Given the description of an element on the screen output the (x, y) to click on. 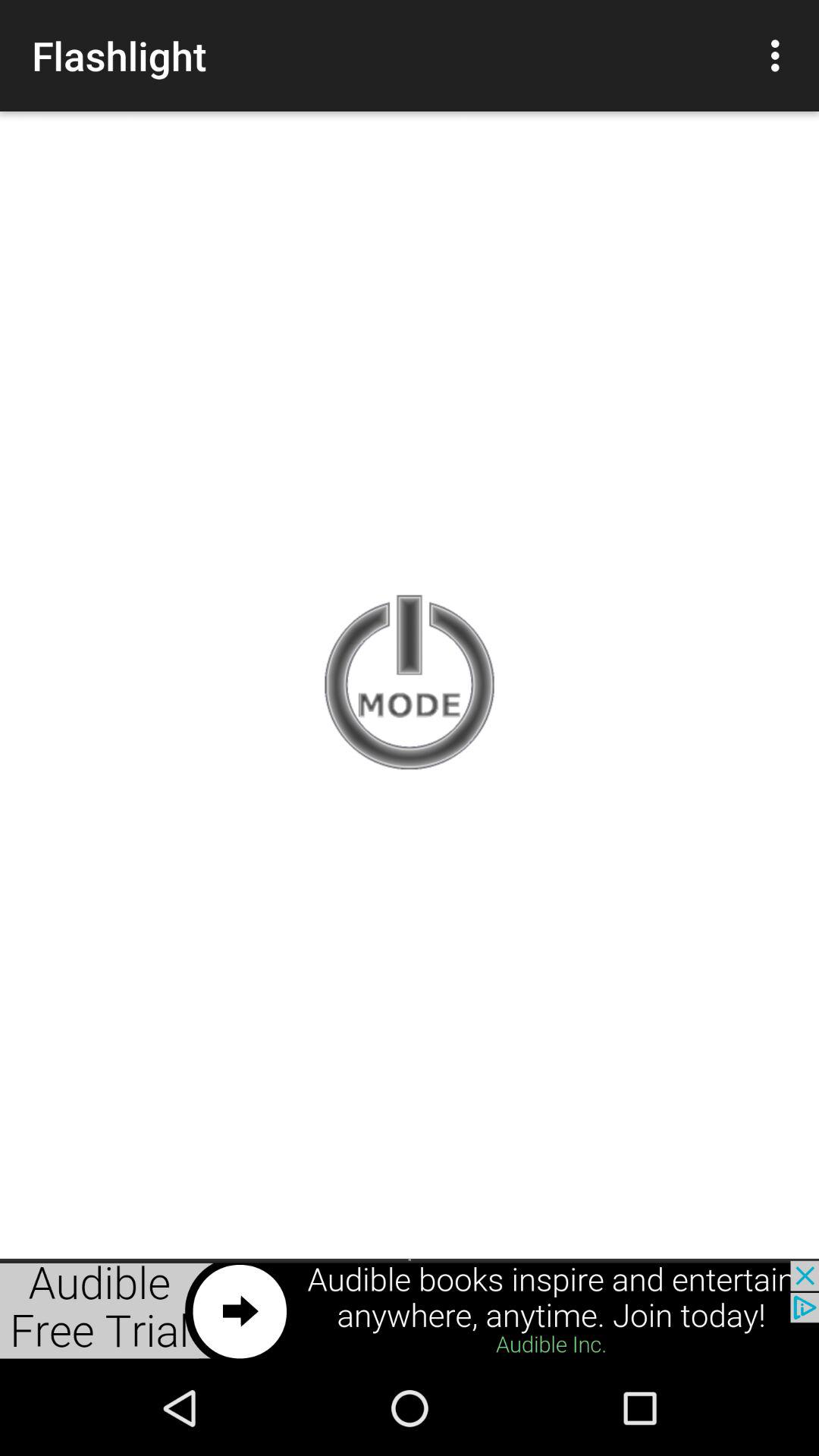
switch of computer or moblie (409, 684)
